Given the description of an element on the screen output the (x, y) to click on. 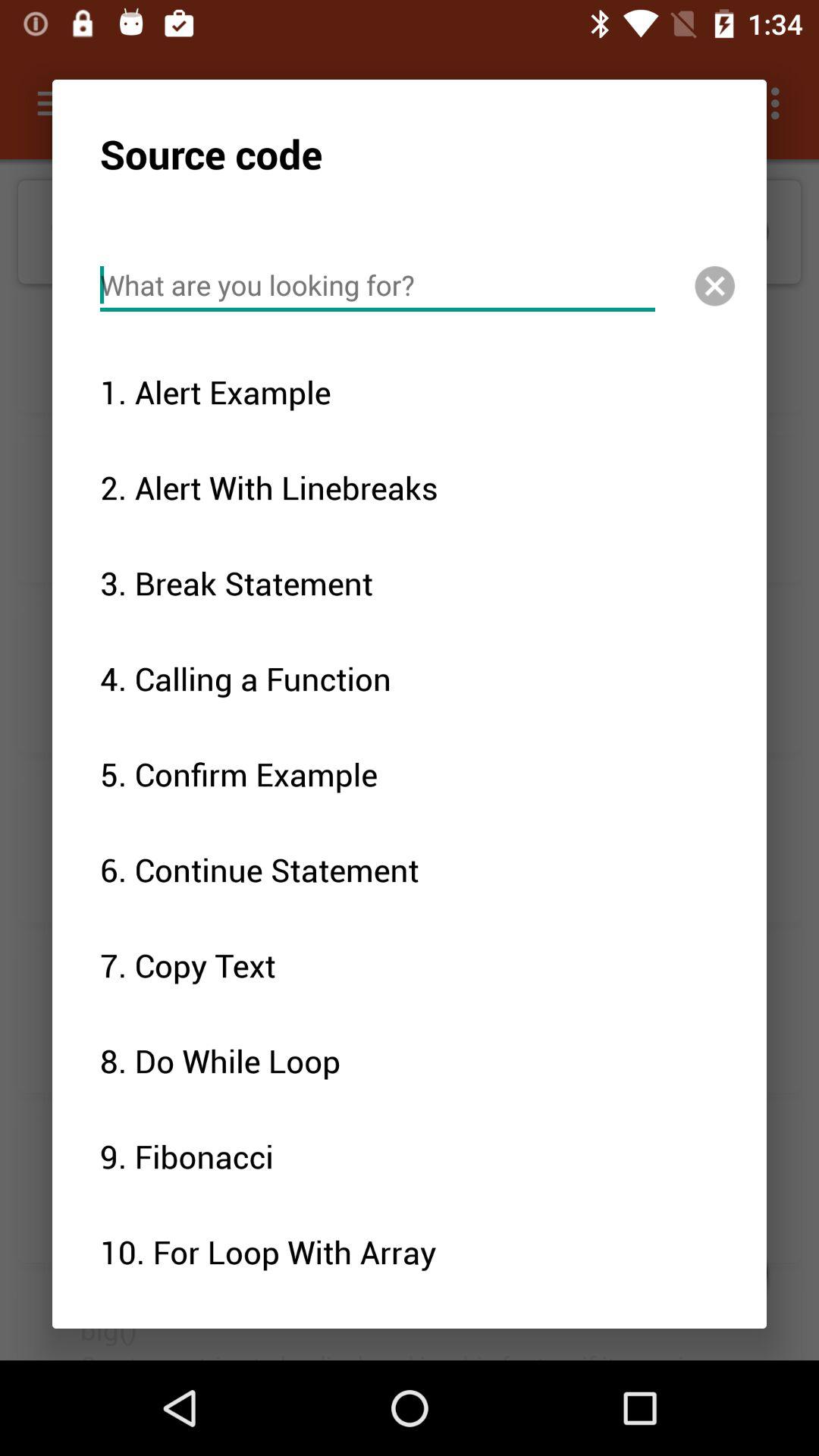
tap the item below the source code icon (377, 285)
